Given the description of an element on the screen output the (x, y) to click on. 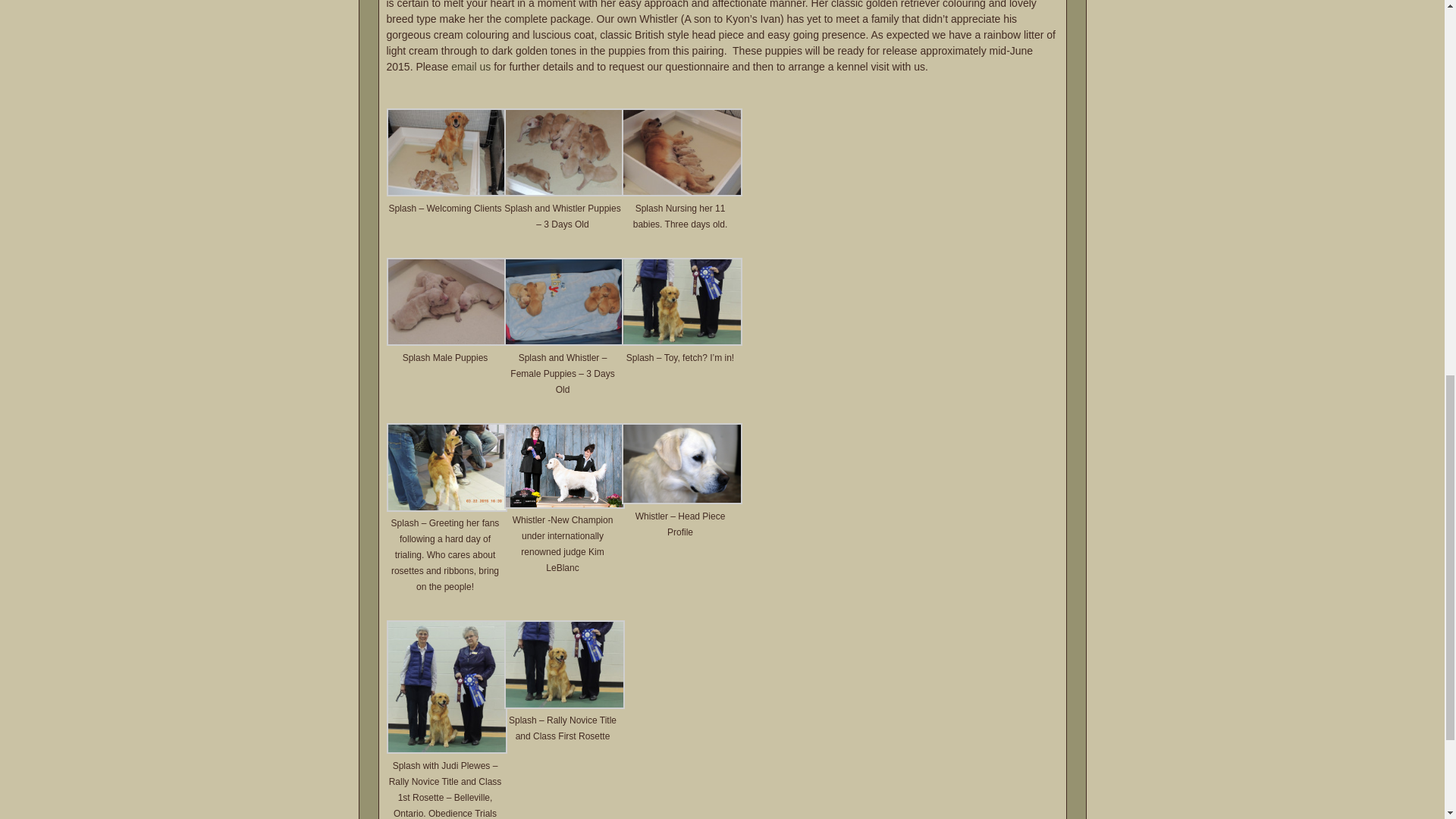
contact us (470, 66)
email us (470, 66)
